Given the description of an element on the screen output the (x, y) to click on. 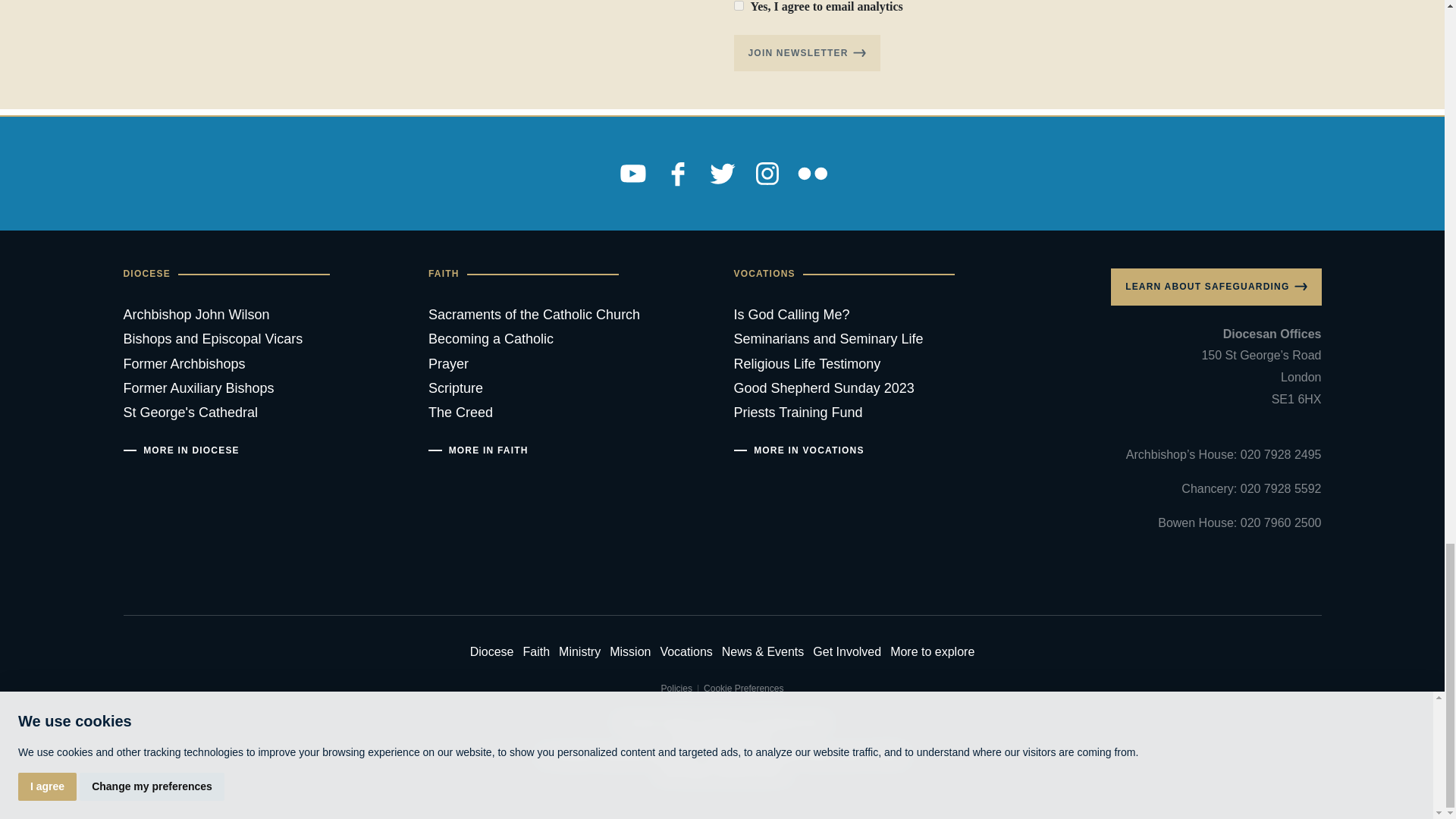
on (738, 5)
